Given the description of an element on the screen output the (x, y) to click on. 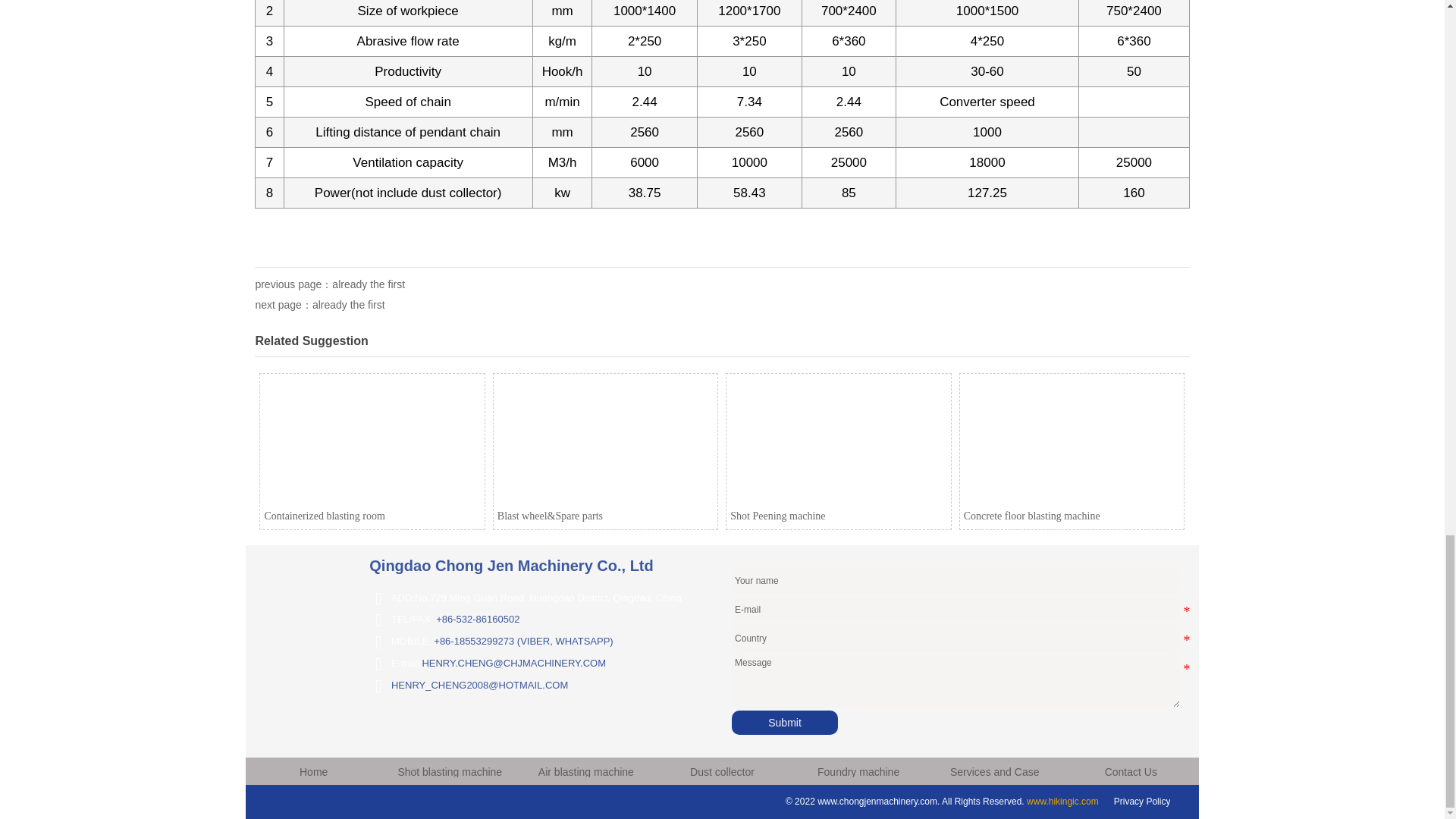
Shot Peening machine (838, 441)
Concrete floor blasting machine (1071, 441)
Concrete floor blasting machine (1072, 451)
Shot Peening machine (837, 451)
Containerized blasting room (371, 441)
Containerized blasting room (371, 451)
